Given the description of an element on the screen output the (x, y) to click on. 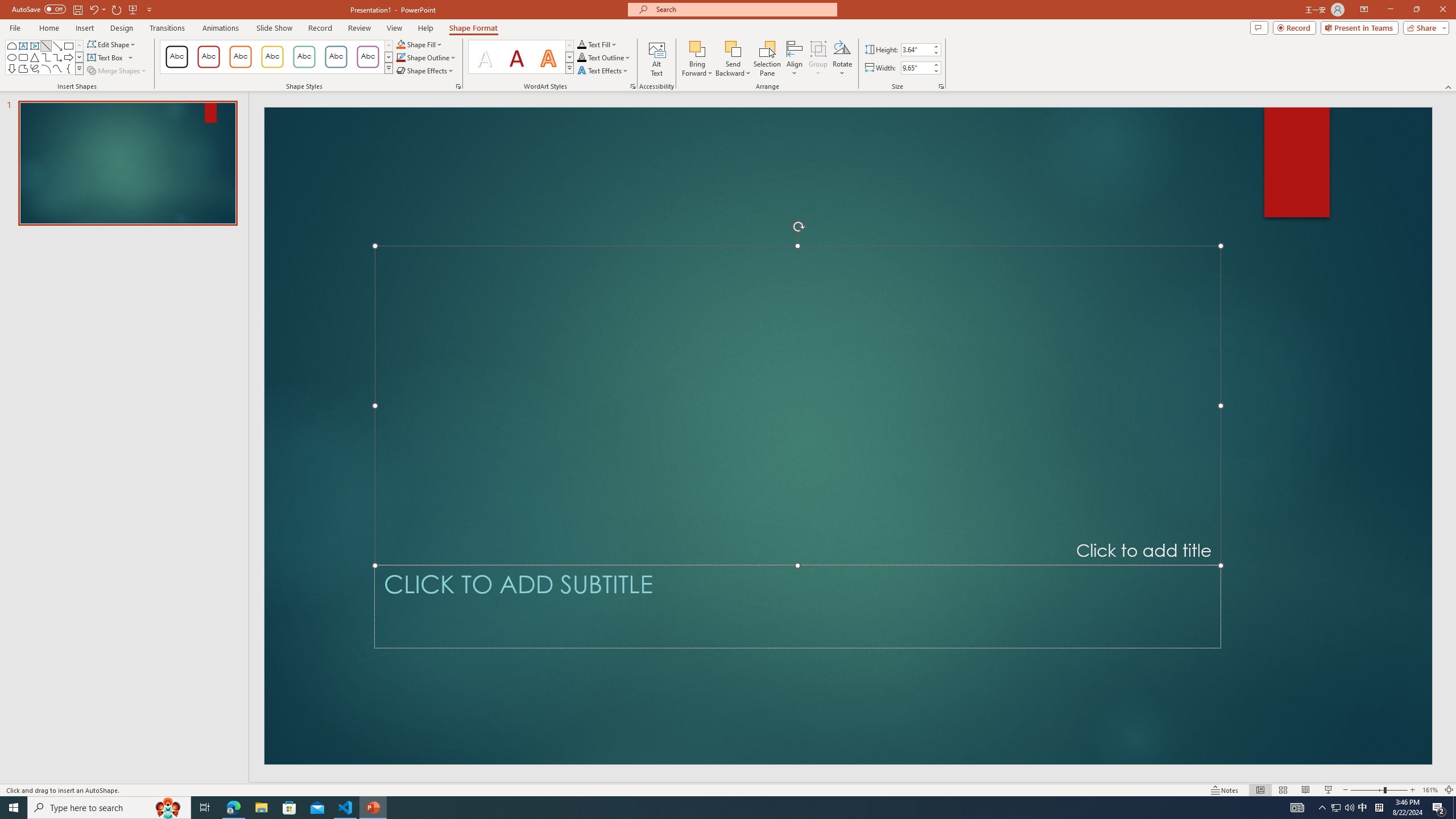
Text Fill RGB(0, 0, 0) (581, 44)
More (935, 64)
Text Fill (596, 44)
Oval (11, 57)
Format Text Effects... (632, 85)
Send Backward (733, 58)
Shape Fill Orange, Accent 2 (400, 44)
Group (817, 58)
